Given the description of an element on the screen output the (x, y) to click on. 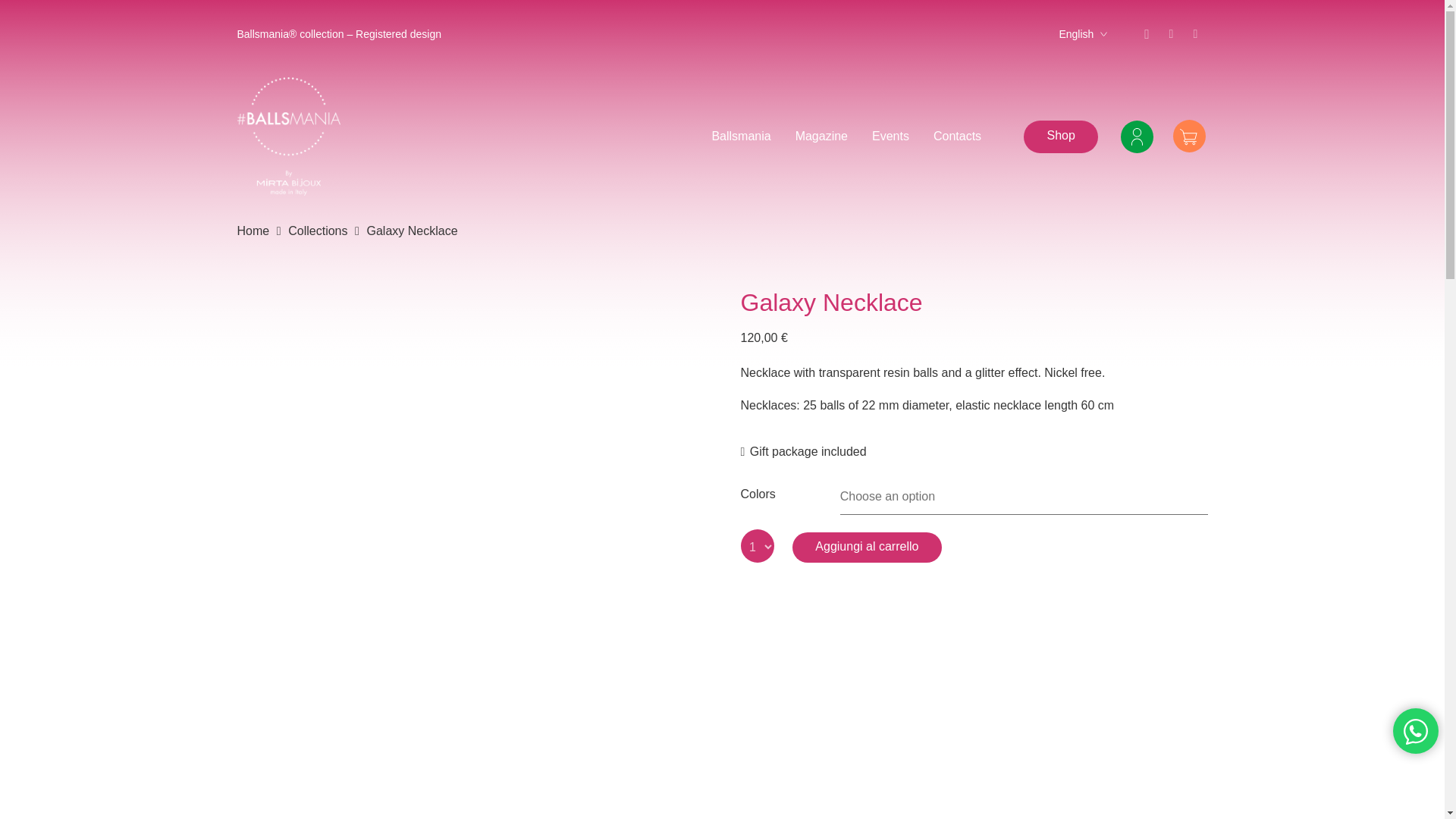
Home (252, 230)
Facebook (1195, 33)
Instagram (1146, 33)
English (1082, 34)
Events (890, 136)
Aggiungi al carrello (867, 547)
Magazine (821, 136)
TikTok (1170, 33)
Ballsmania (740, 136)
Shop (1060, 136)
Collections (317, 230)
Contacts (956, 136)
